Given the description of an element on the screen output the (x, y) to click on. 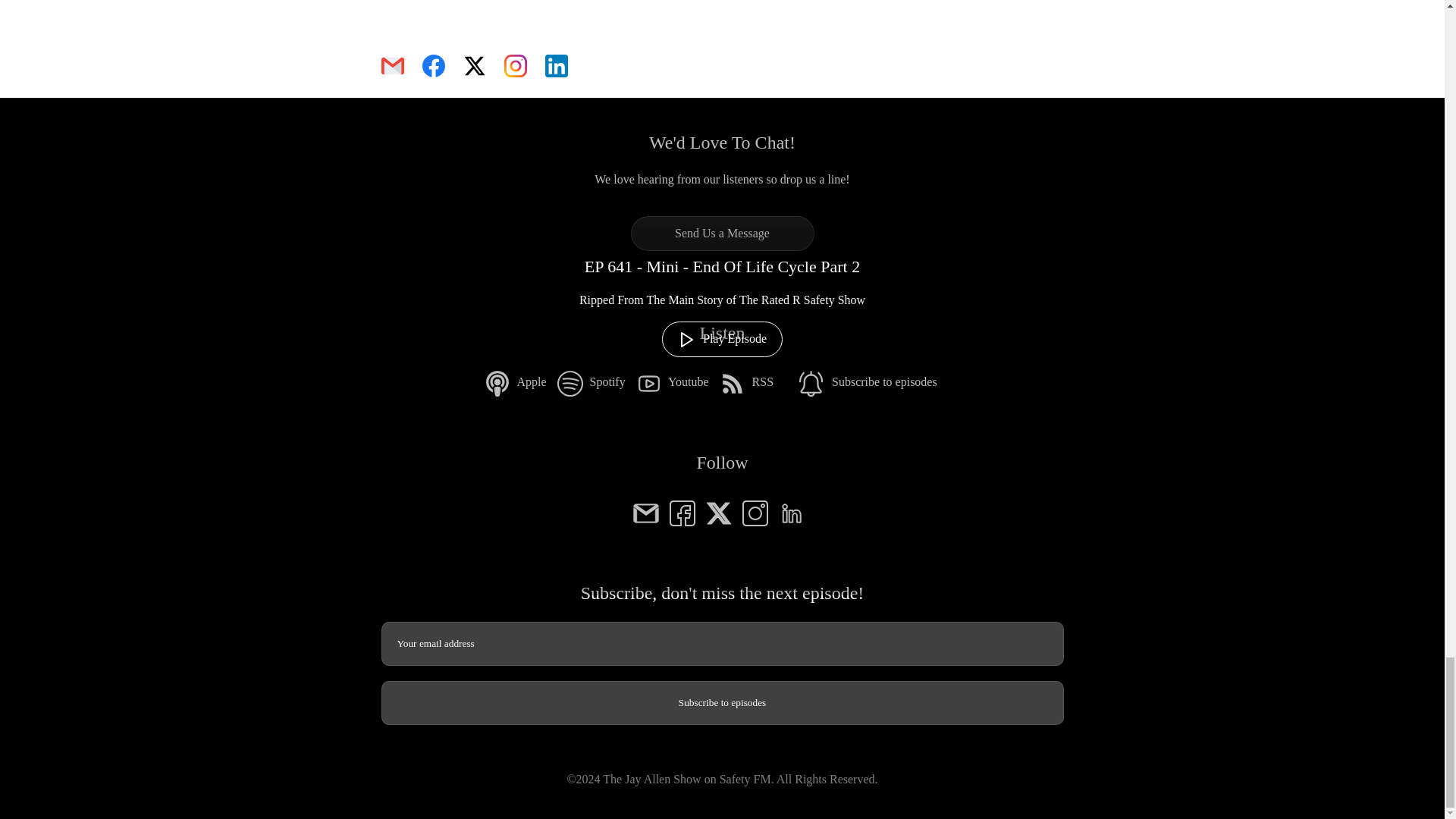
Facebook (681, 511)
Twitter (717, 511)
Subscribe to episodes (721, 702)
LinkedIn (790, 511)
Instagram (754, 511)
